Given the description of an element on the screen output the (x, y) to click on. 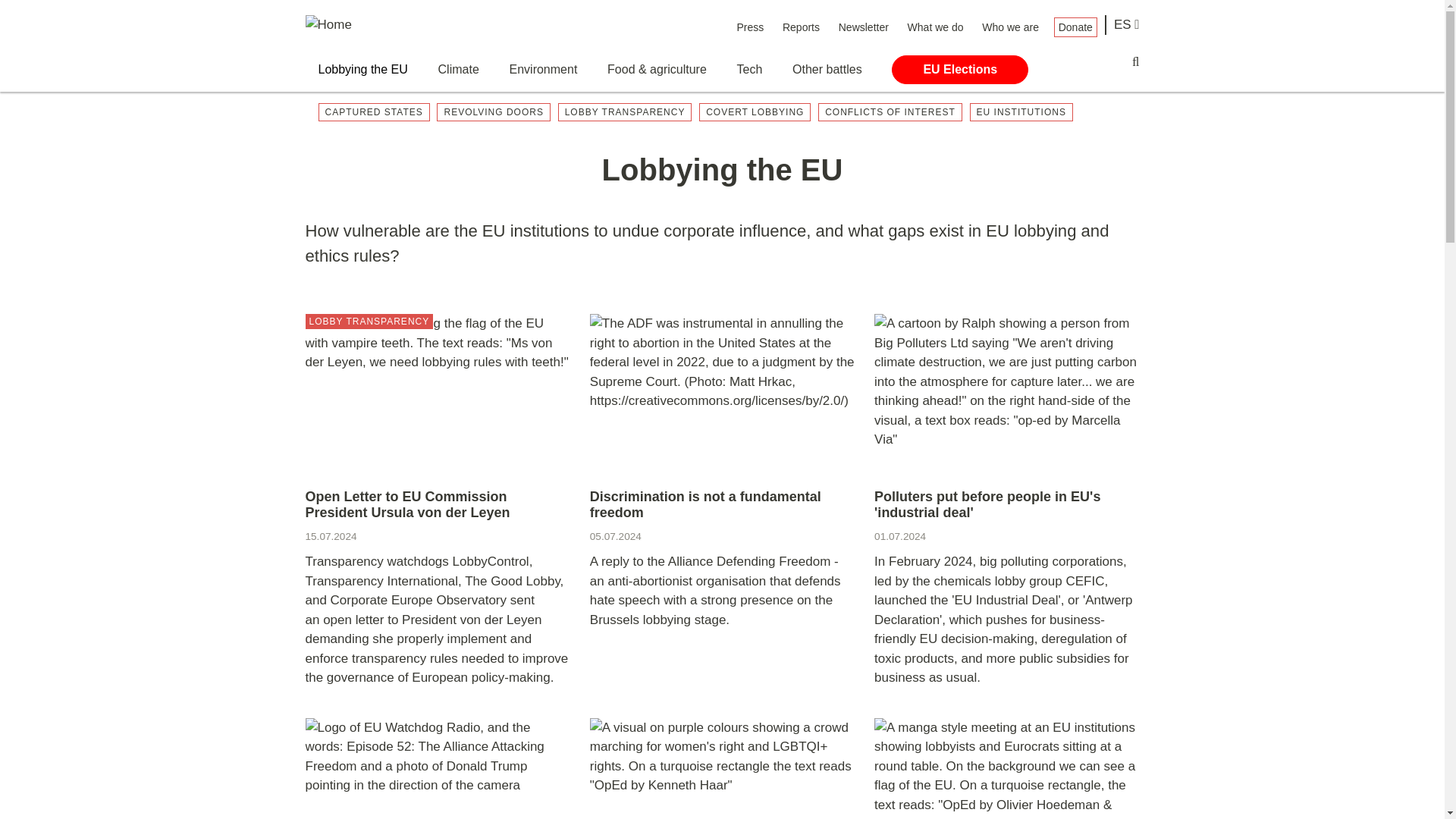
Donate (1075, 26)
Tech (749, 69)
Lobbying the EU (362, 69)
Press (749, 27)
EU Elections (959, 69)
Newsletter (863, 27)
Other battles (826, 69)
Who we are (1010, 27)
Climate (458, 69)
What we do (936, 27)
Environment (543, 69)
ES (1126, 25)
Reports (801, 27)
